Given the description of an element on the screen output the (x, y) to click on. 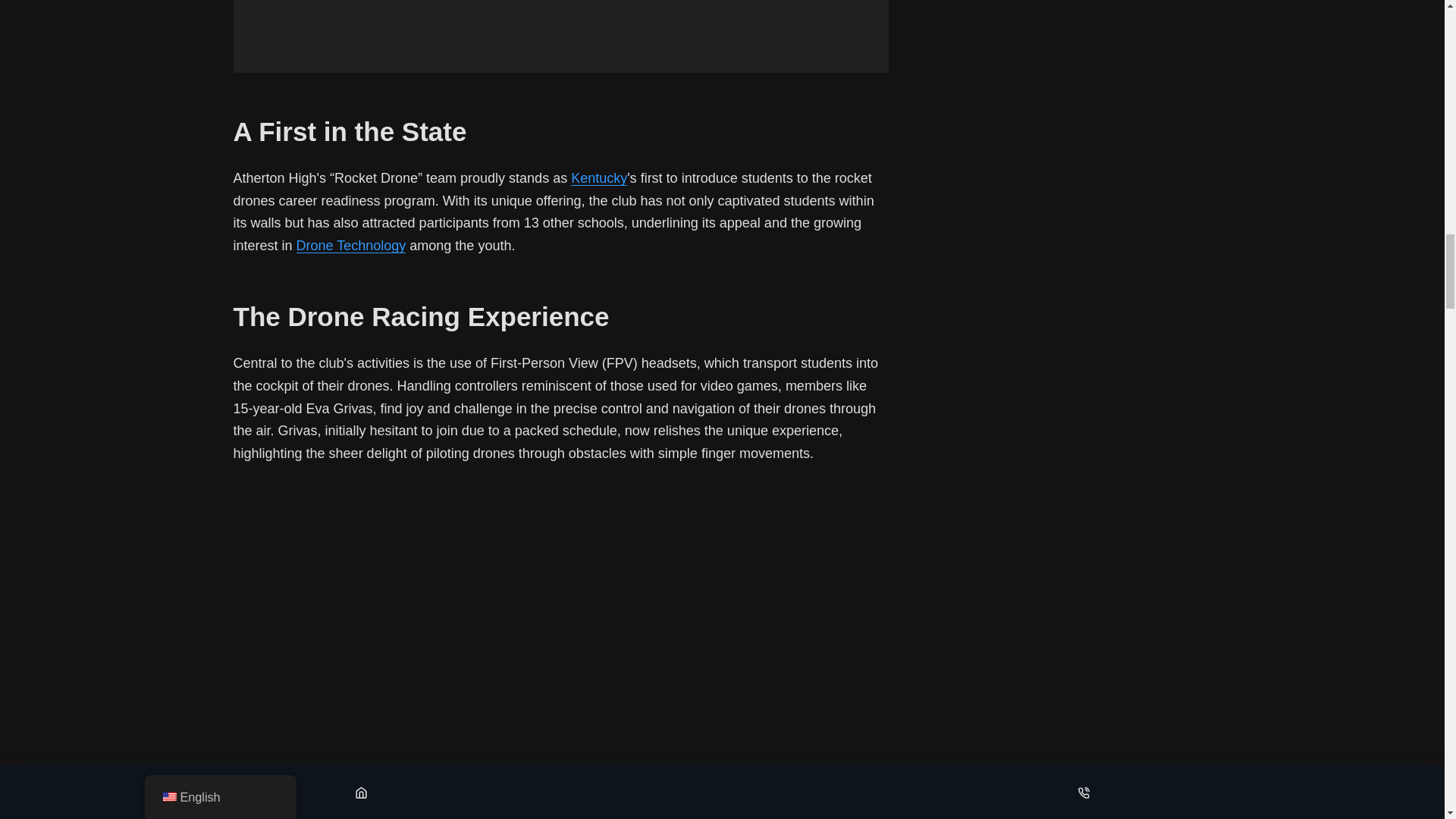
Posts in the category Kentucky (598, 177)
Posts in the category Drone Technology (351, 245)
